Given the description of an element on the screen output the (x, y) to click on. 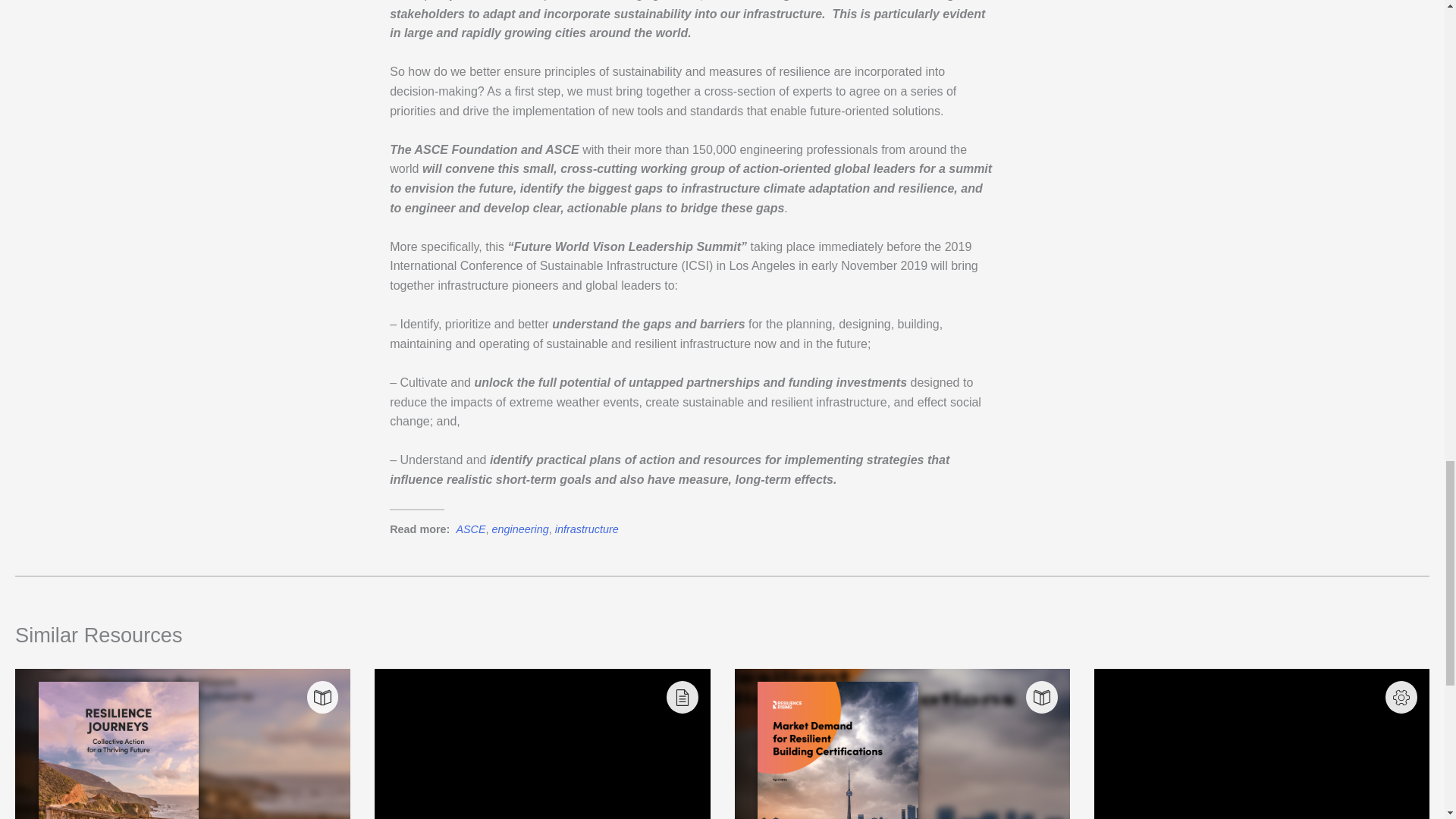
ASCE (469, 529)
infrastructure (586, 529)
engineering (520, 529)
